Given the description of an element on the screen output the (x, y) to click on. 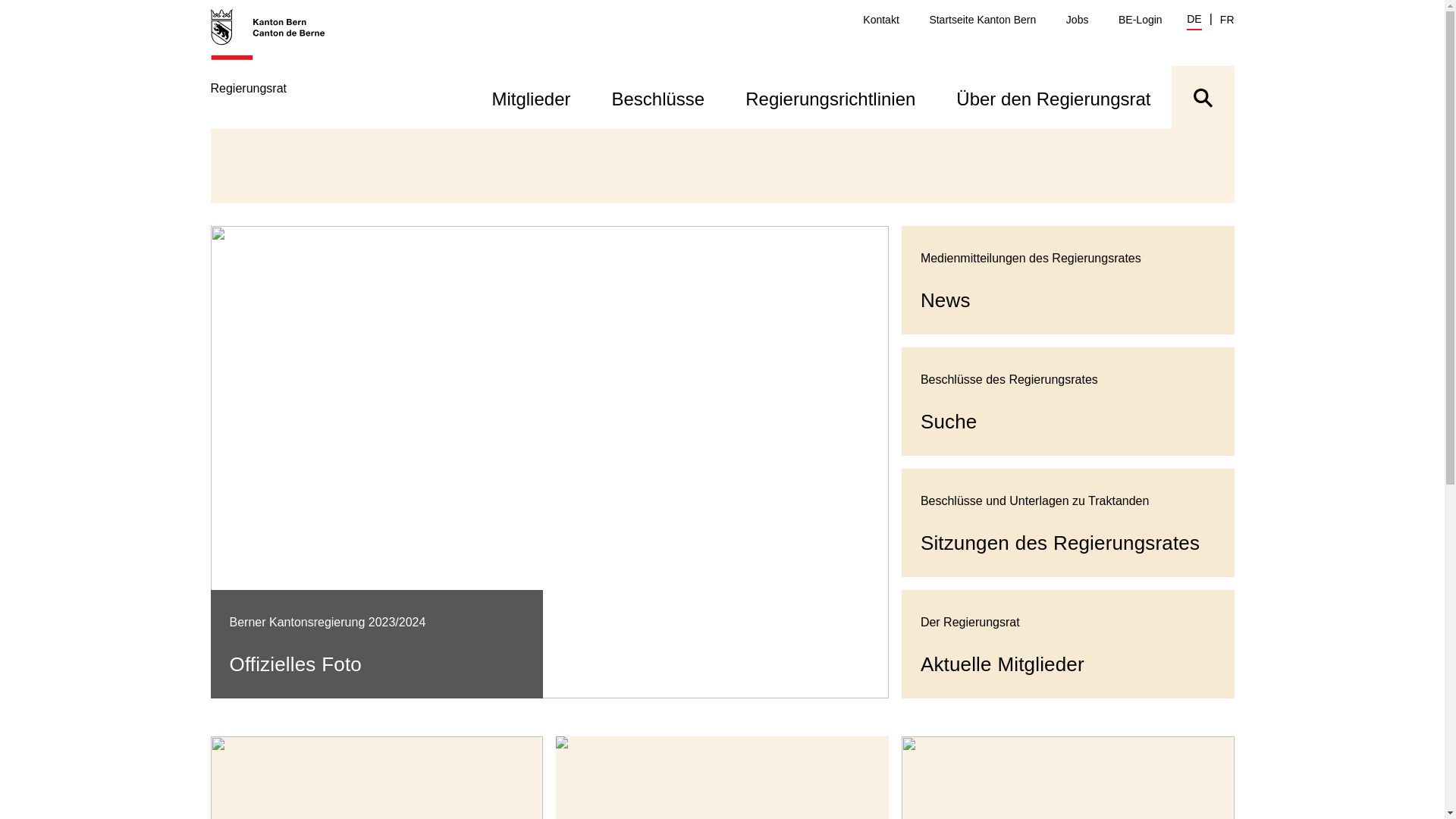
BE-Login Element type: text (1140, 19)
Aktuelle Mitglieder
Der Regierungsrat Element type: text (1067, 643)
Offizielles Foto
Berner Kantonsregierung 2023/2024 Element type: text (549, 461)
Suche ein- oder ausblenden Element type: text (1201, 96)
FR Element type: text (1227, 19)
Kontakt Element type: text (880, 19)
Regierungsrichtlinien Element type: text (829, 96)
Regierungsrat Element type: text (275, 68)
Mitglieder Element type: text (530, 96)
Startseite Kanton Bern Element type: text (981, 19)
DE Element type: text (1193, 21)
News
Medienmitteilungen des Regierungsrates Element type: text (1067, 279)
Jobs Element type: text (1077, 19)
